Given the description of an element on the screen output the (x, y) to click on. 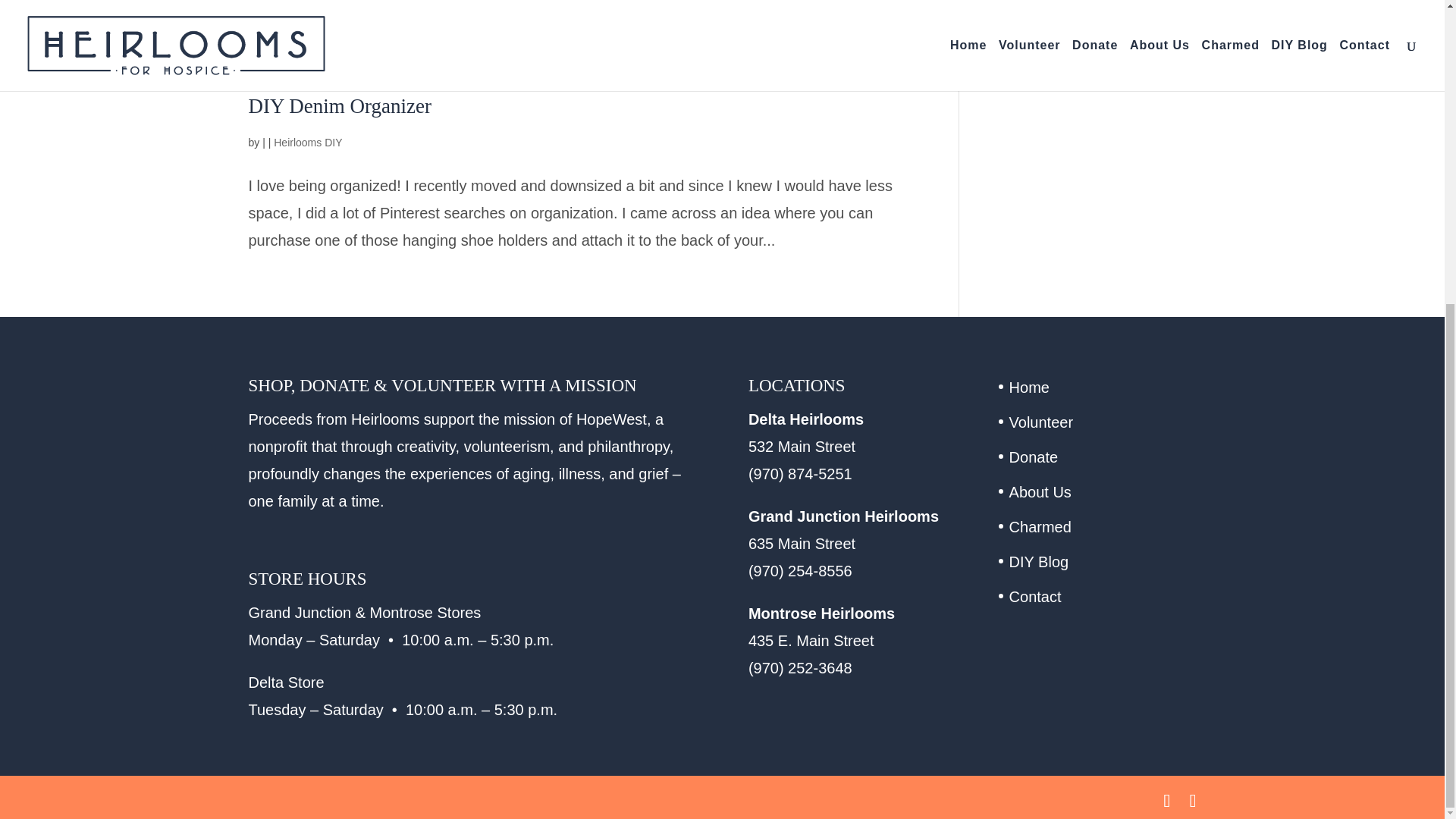
Donate (1033, 457)
Heirlooms DIY (307, 142)
Home (1029, 387)
Charmed (1040, 526)
DIY Blog (1038, 561)
HopeWest (611, 419)
About Us (1040, 492)
Contact (1035, 596)
DIY Denim Organizer (339, 106)
Volunteer (1041, 422)
